Given the description of an element on the screen output the (x, y) to click on. 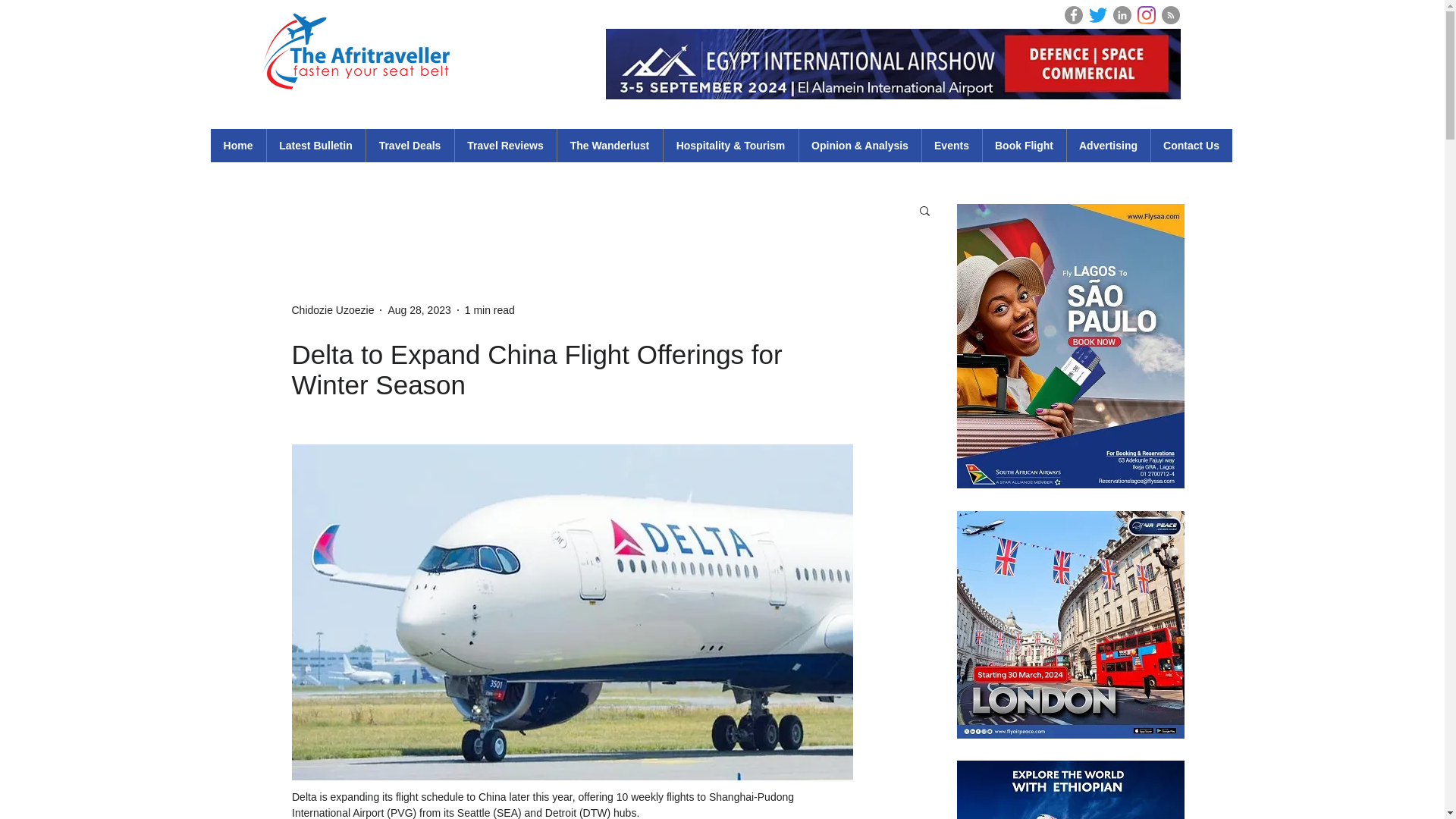
Contact Us (1190, 145)
Chidozie Uzoezie (332, 309)
Latest Bulletin (314, 145)
Events (950, 145)
Aug 28, 2023 (418, 309)
Home (238, 145)
Login (1201, 13)
Travel Deals (409, 145)
The Wanderlust (609, 145)
Advertising (1107, 145)
1 min read (489, 309)
Travel Reviews (504, 145)
Book Flight (1023, 145)
